Given the description of an element on the screen output the (x, y) to click on. 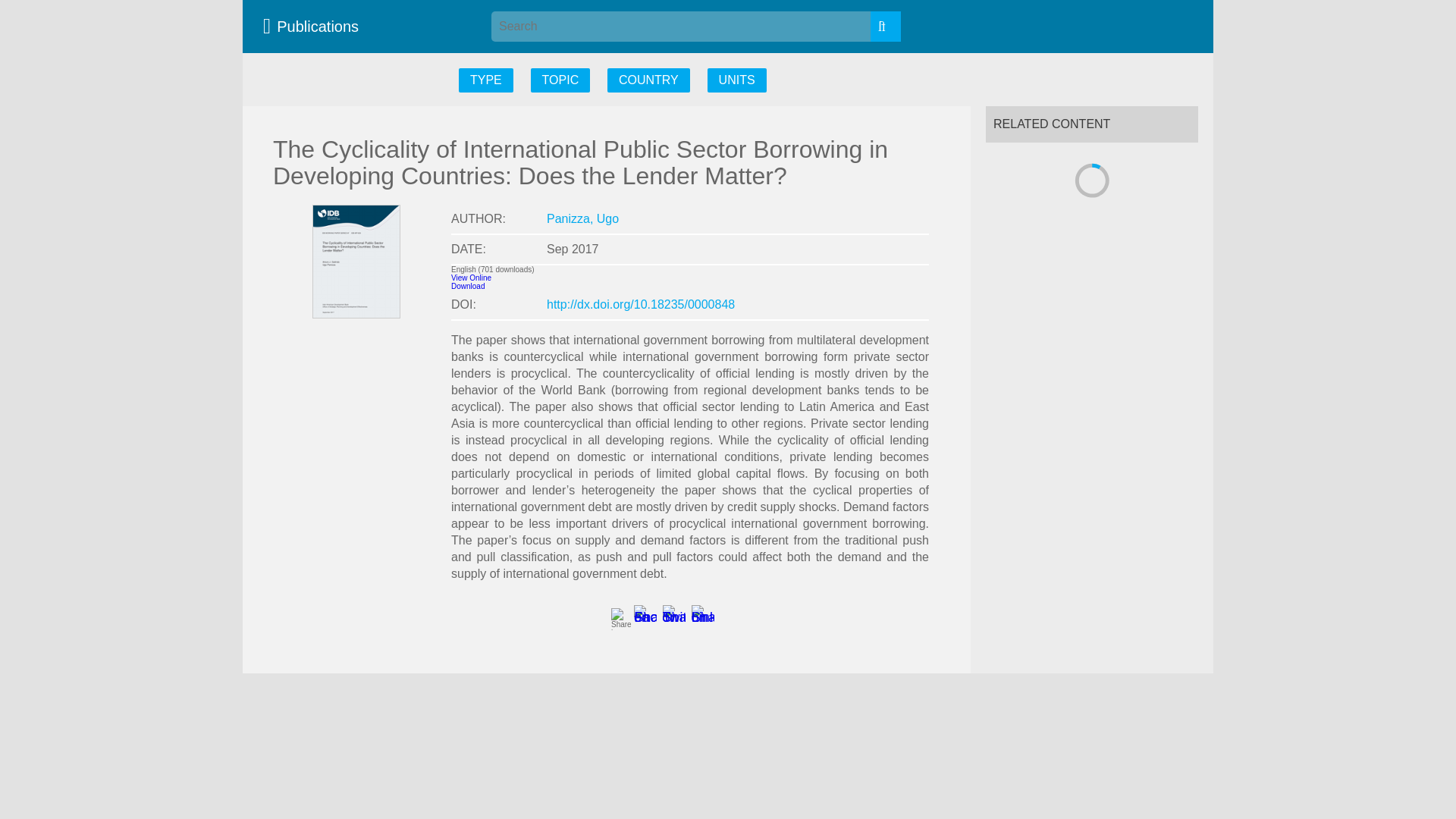
UNITS (737, 79)
Share on Facebook (644, 616)
Panizza, Ugo (582, 218)
TOPIC (561, 79)
Publications (315, 26)
Download (467, 285)
Share on Twitter (673, 616)
Apply (885, 26)
COUNTRY (648, 79)
